Given the description of an element on the screen output the (x, y) to click on. 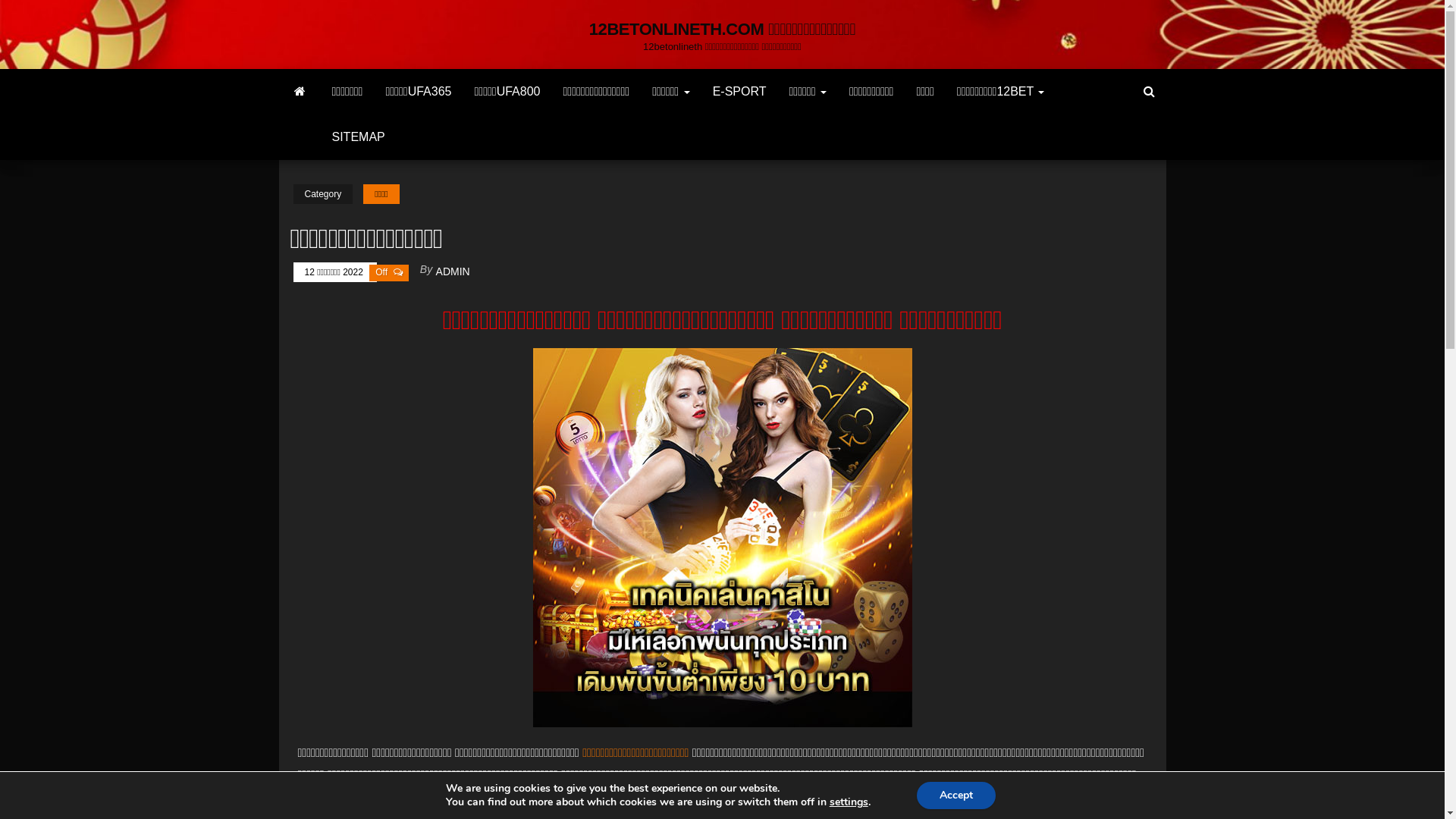
Accept Element type: text (955, 795)
SITEMAP Element type: text (357, 137)
E-SPORT Element type: text (739, 91)
ADMIN Element type: text (453, 271)
settings Element type: text (848, 802)
